Given the description of an element on the screen output the (x, y) to click on. 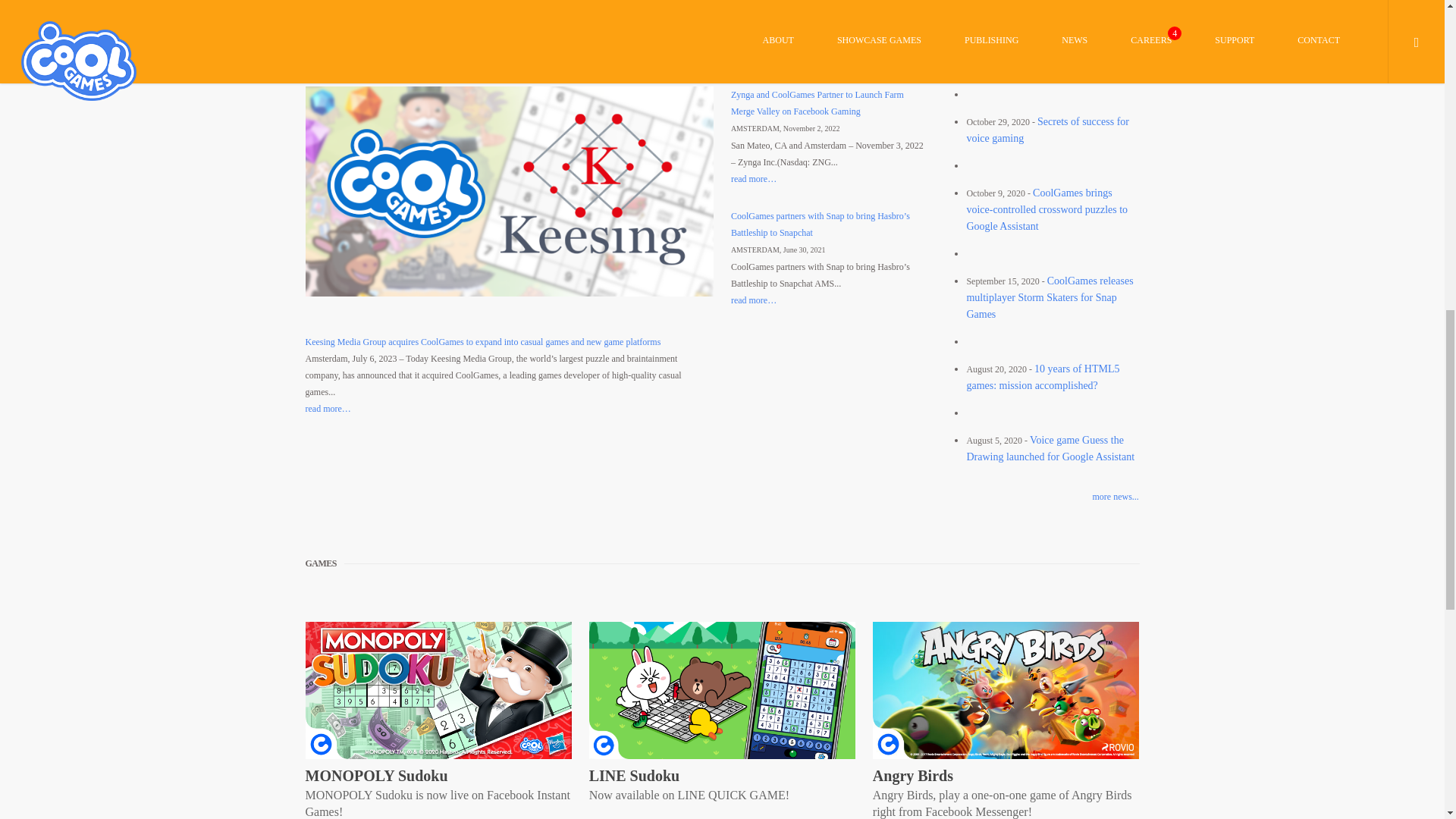
October 29, 2020 - Secrets of success for voice gaming (1047, 130)
more news... (1040, 496)
